Given the description of an element on the screen output the (x, y) to click on. 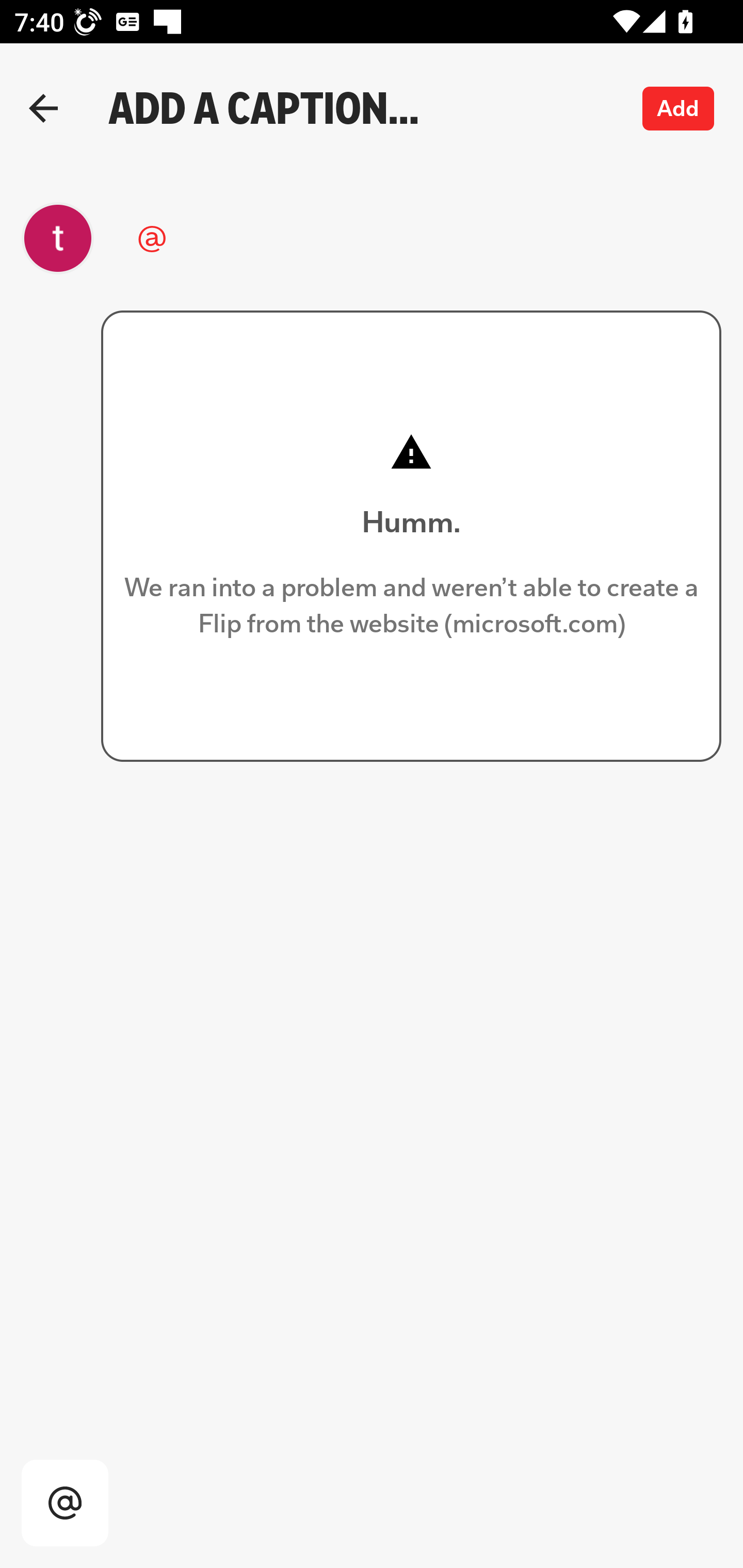
Add (678, 108)
@ (360, 238)
